Given the description of an element on the screen output the (x, y) to click on. 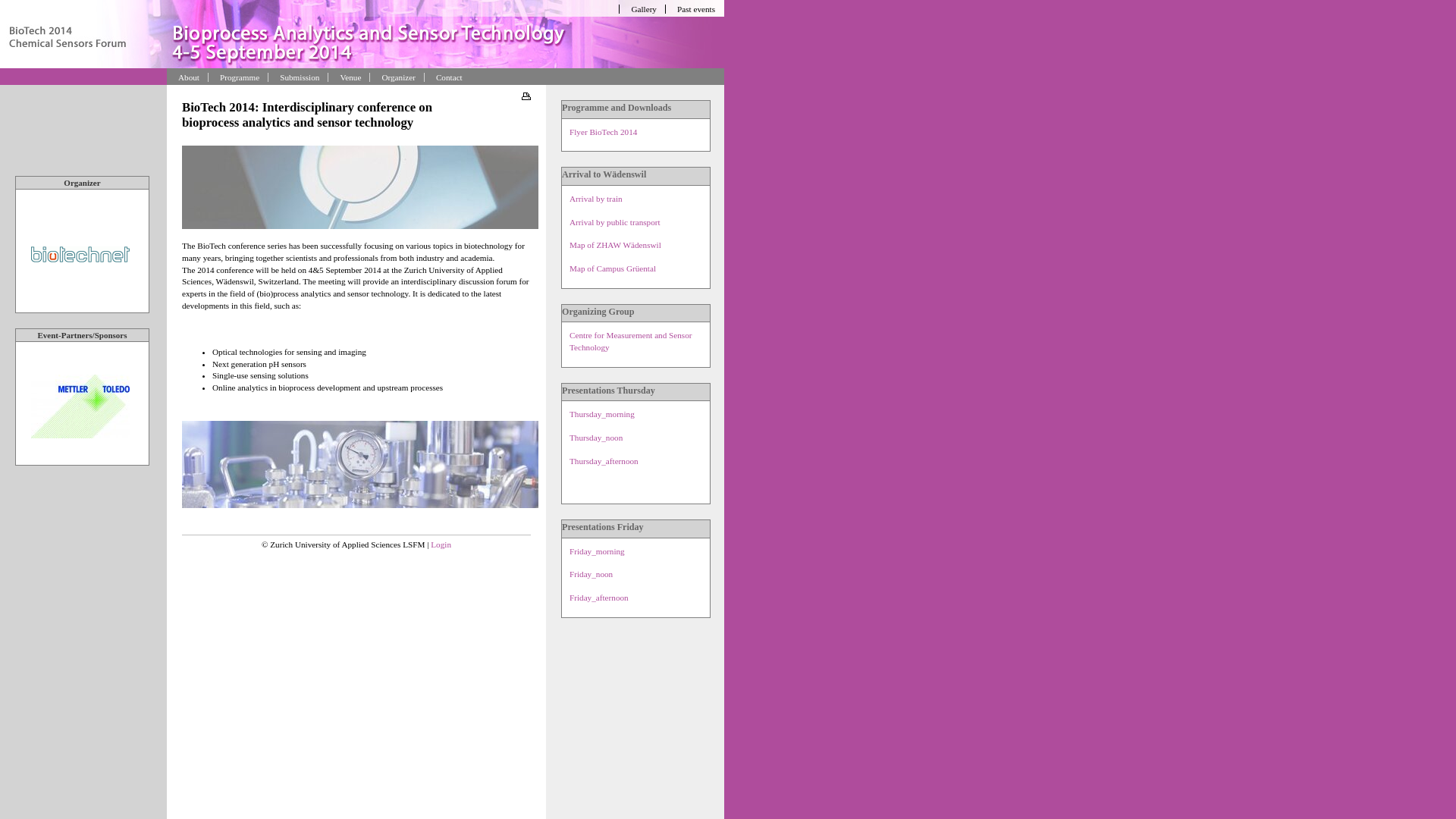
Login Element type: text (440, 544)
Flyer BioTech 2014 Element type: text (603, 131)
Past events Element type: text (692, 8)
Arrival by public transport Element type: text (614, 221)
Centre for Measurement and Sensor Technology Element type: text (630, 340)
Programme Element type: text (235, 76)
Organizer Element type: text (394, 76)
Submission Element type: text (295, 76)
Thursday_noon Element type: text (595, 437)
About Element type: text (185, 76)
Friday_afternoon Element type: text (598, 597)
Friday_morning Element type: text (596, 550)
Thursday_morning Element type: text (601, 413)
Friday_noon Element type: text (590, 573)
Contact Element type: text (445, 76)
Thursday_afternoon Element type: text (603, 460)
Venue Element type: text (346, 76)
Arrival by train Element type: text (595, 198)
Gallery Element type: text (640, 8)
